Given the description of an element on the screen output the (x, y) to click on. 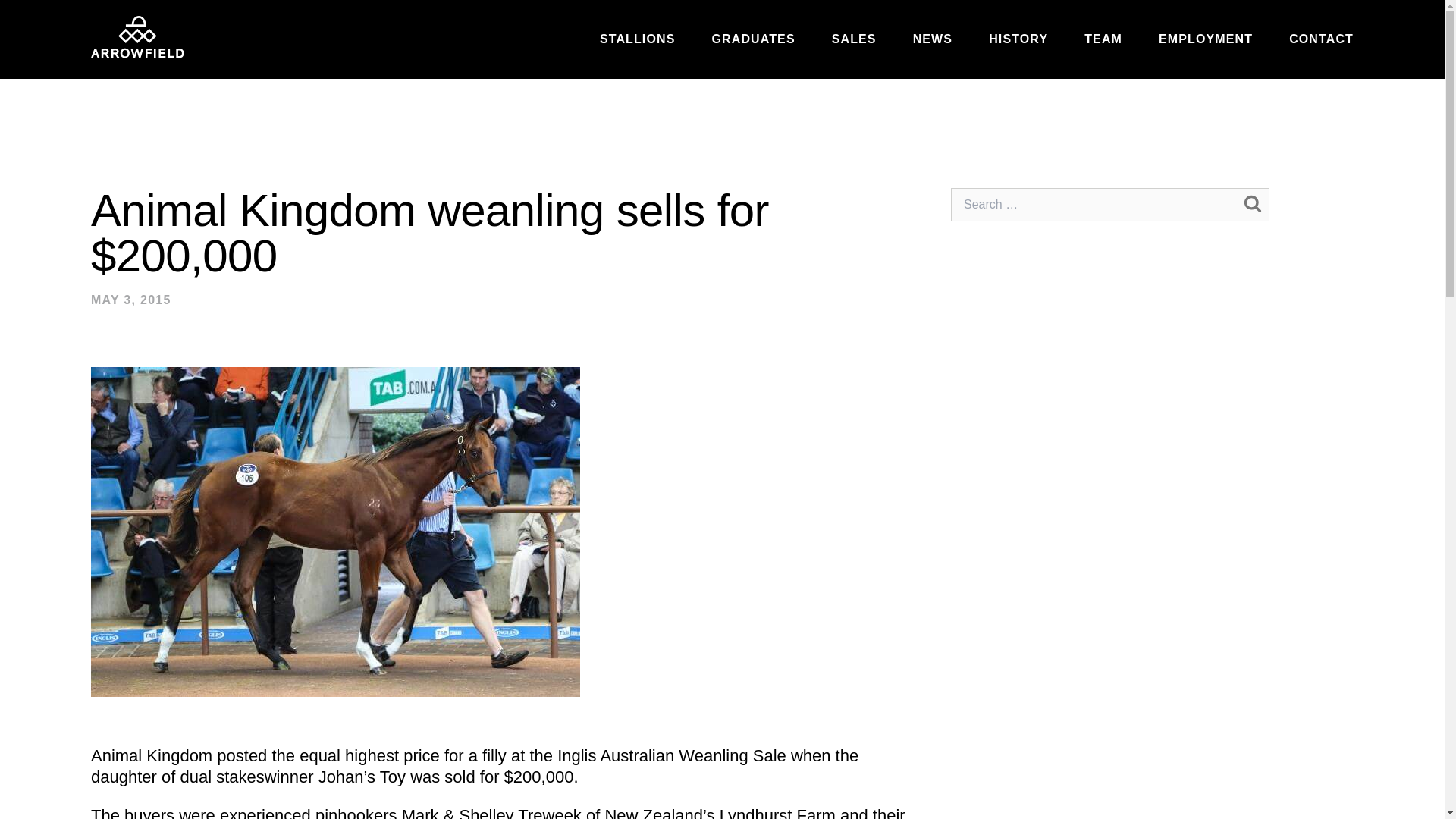
GRADUATES (752, 39)
Return to the homepage (136, 36)
CONTACT (1321, 39)
STALLIONS (637, 39)
HISTORY (1018, 39)
NEWS (932, 39)
TEAM (1103, 39)
EMPLOYMENT (1205, 39)
SALES (853, 39)
